Given the description of an element on the screen output the (x, y) to click on. 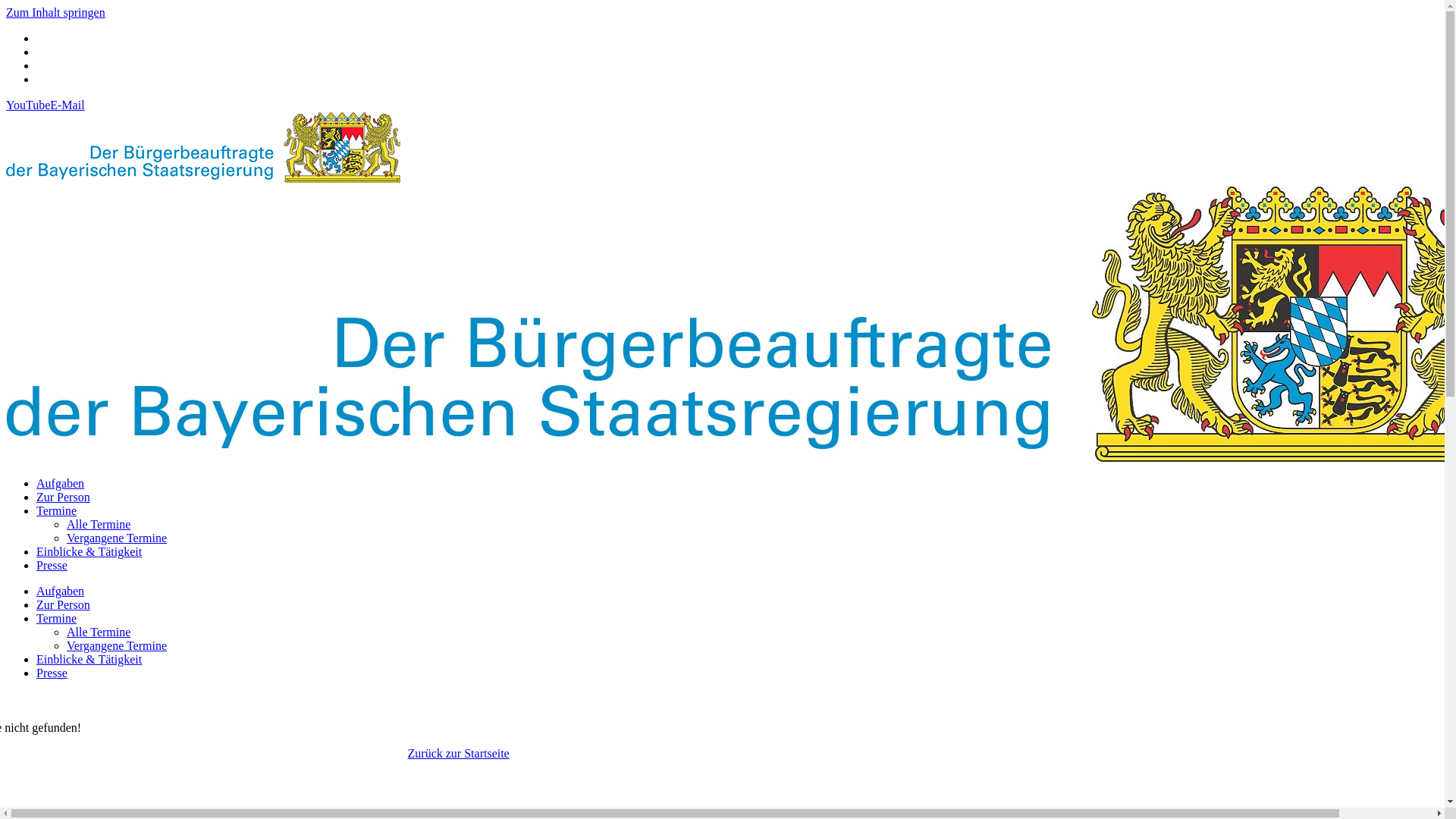
E-Mail Element type: text (67, 104)
Vergangene Termine Element type: text (116, 645)
Vergangene Termine Element type: text (116, 537)
Aufgaben Element type: text (60, 482)
Termine Element type: text (56, 510)
Presse Element type: text (51, 564)
YouTube Element type: text (28, 104)
Termine Element type: text (56, 617)
Aufgaben Element type: text (60, 590)
Alle Termine Element type: text (98, 631)
Zum Inhalt springen Element type: text (55, 12)
Alle Termine Element type: text (98, 523)
Zur Person Element type: text (63, 496)
Zur Person Element type: text (63, 604)
Presse Element type: text (51, 672)
